Given the description of an element on the screen output the (x, y) to click on. 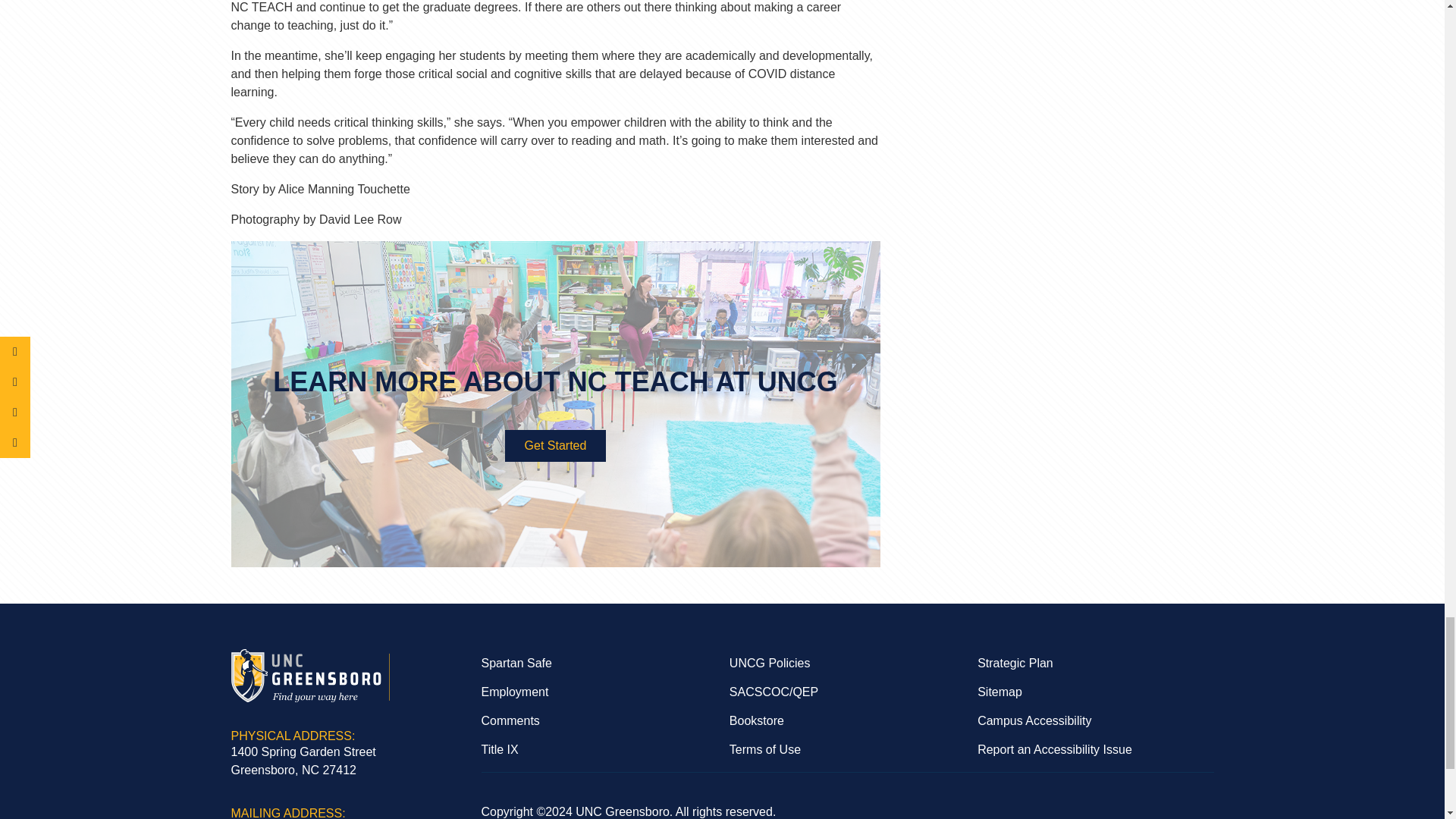
Get Started (556, 445)
